Given the description of an element on the screen output the (x, y) to click on. 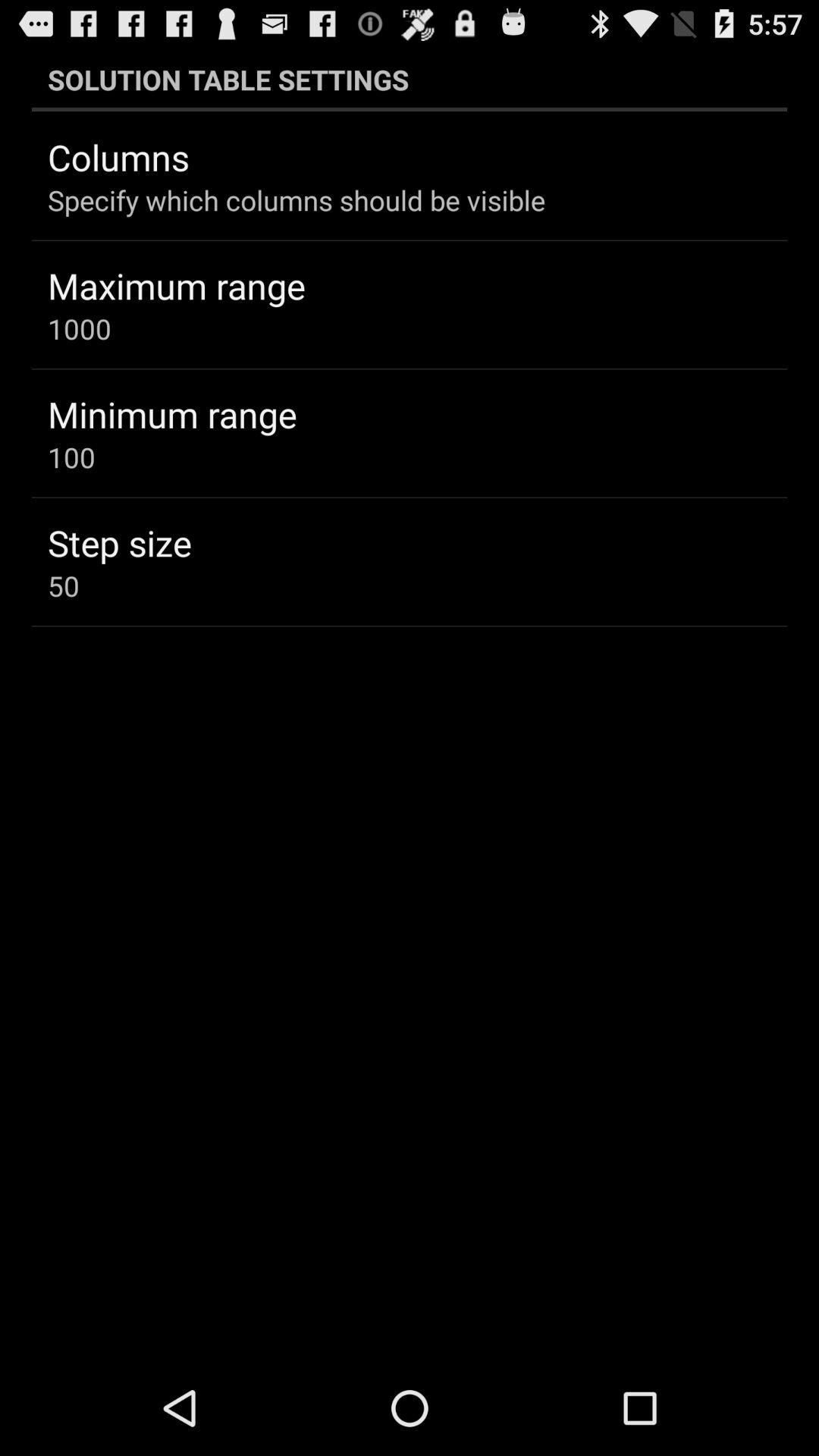
swipe to the 50 (63, 585)
